Given the description of an element on the screen output the (x, y) to click on. 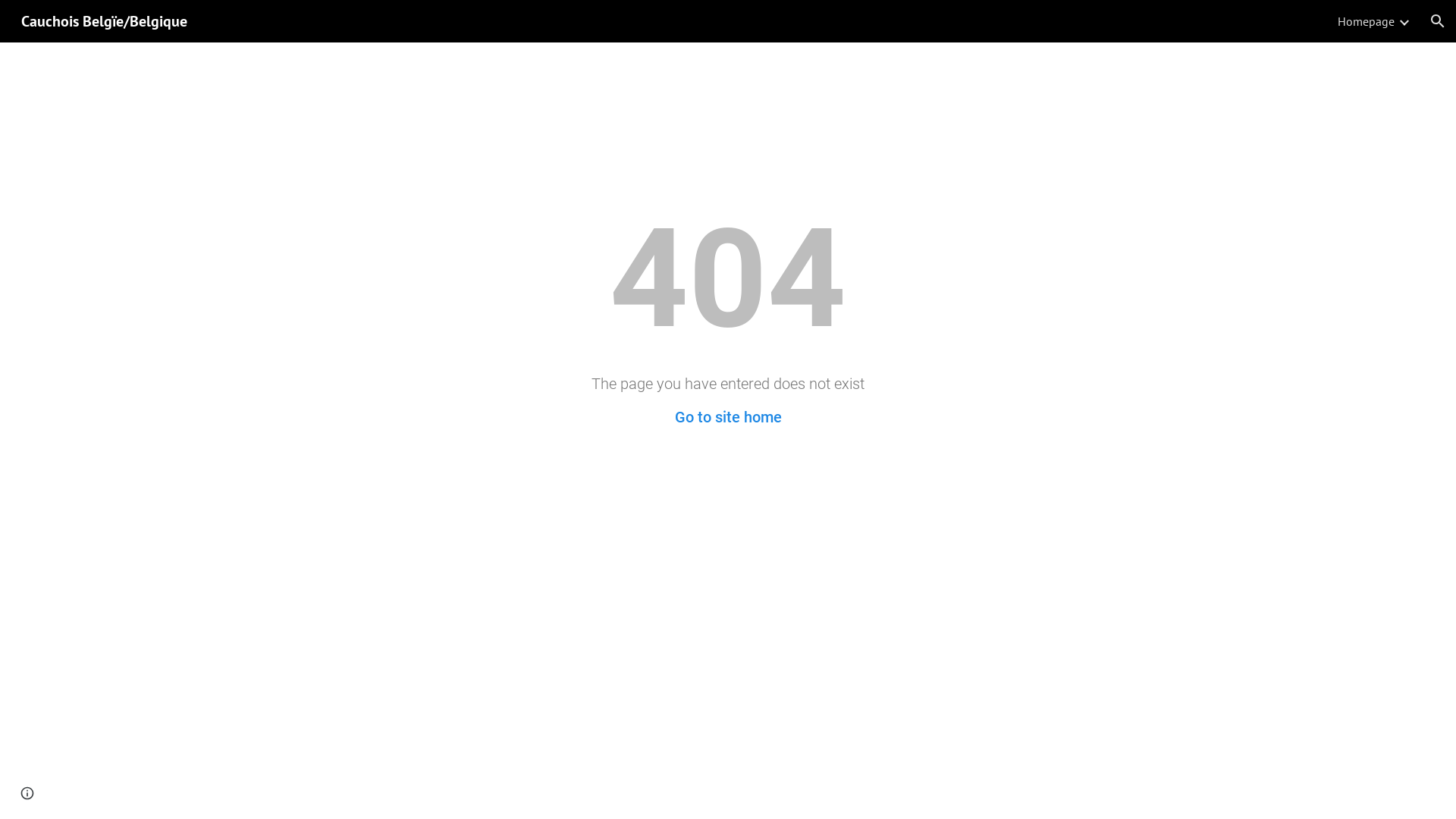
Expand/Collapse Element type: hover (1403, 20)
Homepage Element type: text (1365, 20)
Go to site home Element type: text (727, 416)
